Given the description of an element on the screen output the (x, y) to click on. 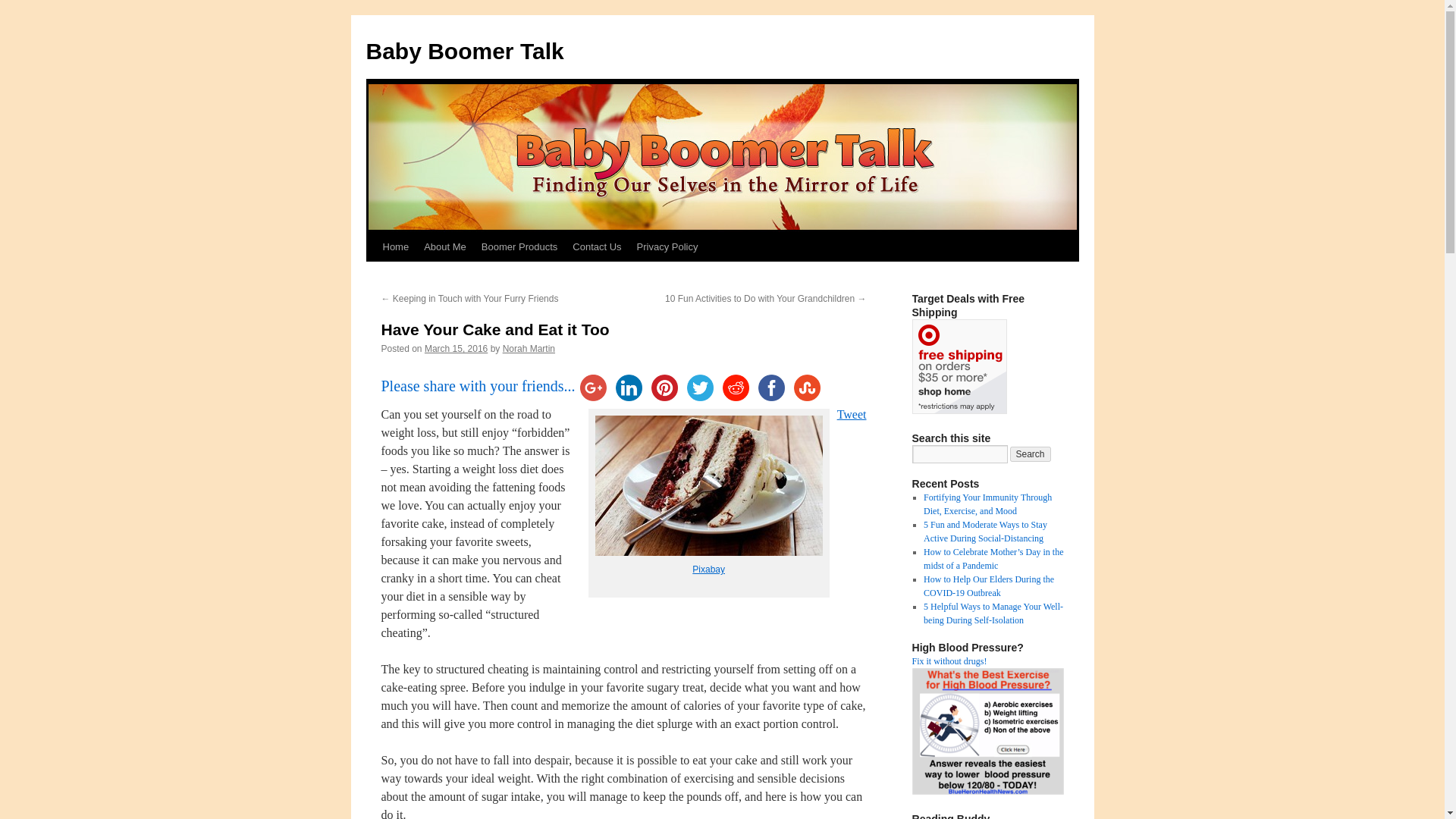
Privacy Policy (667, 246)
March 15, 2016 (456, 348)
Please share with your friends... (477, 385)
Home (395, 246)
Boomer Products (519, 246)
About Me (445, 246)
facebook (771, 387)
Baby Boomer Talk (464, 50)
reddit (735, 387)
Contact Us (596, 246)
